Given the description of an element on the screen output the (x, y) to click on. 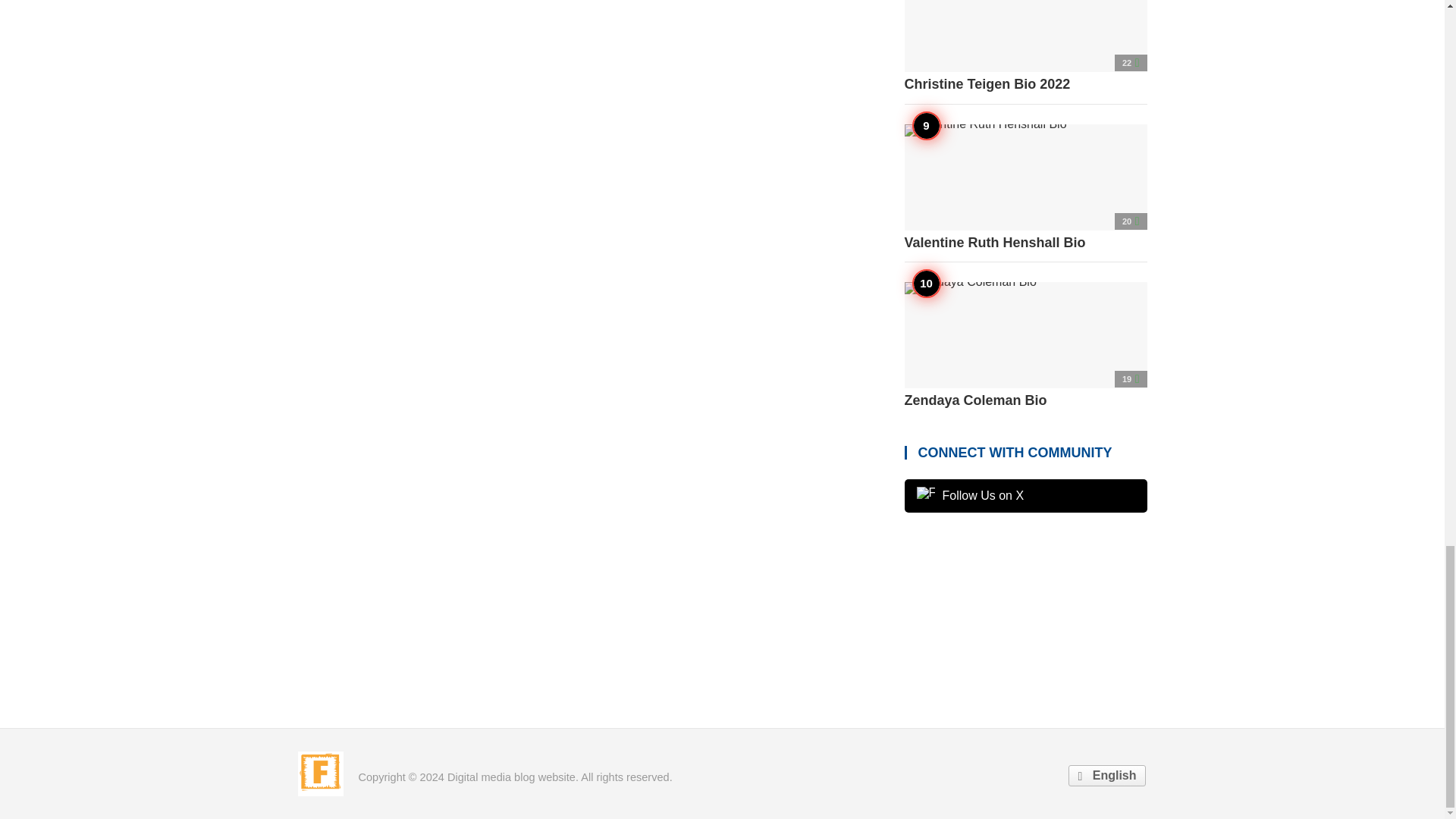
Advertisement (1025, 616)
Zendaya Coleman Bio (1025, 345)
Valentine Ruth Henshall Bio (1025, 187)
Christine Teigen  Bio 2022 (1025, 46)
